Given the description of an element on the screen output the (x, y) to click on. 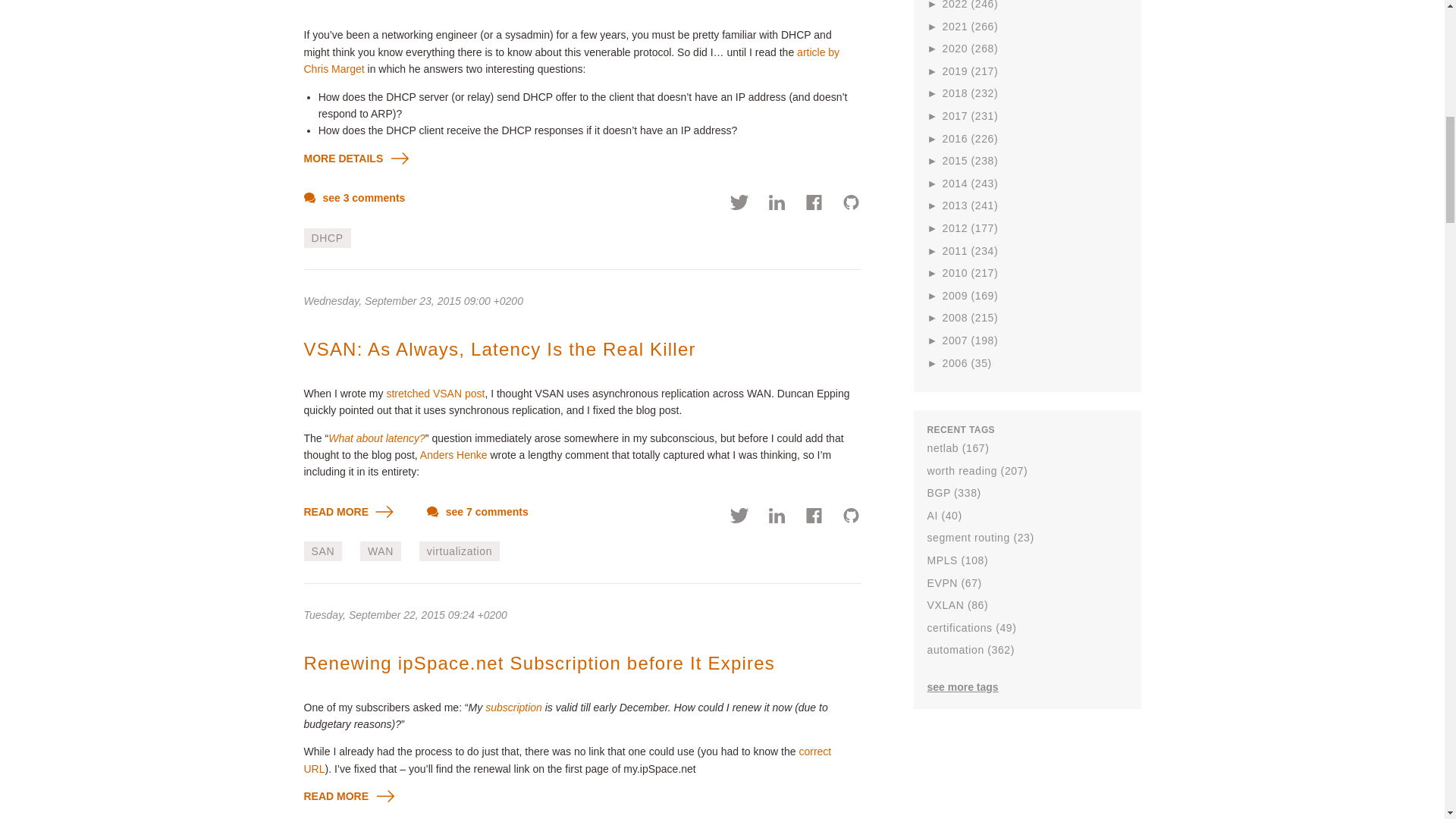
Share to LinkedIn (776, 204)
Share to Facebook (814, 517)
Share to Twitter (739, 204)
permanent link (412, 300)
Share to Twitter (739, 517)
GitHub Source (850, 204)
Share to LinkedIn (776, 517)
Share to Facebook (814, 204)
